Given the description of an element on the screen output the (x, y) to click on. 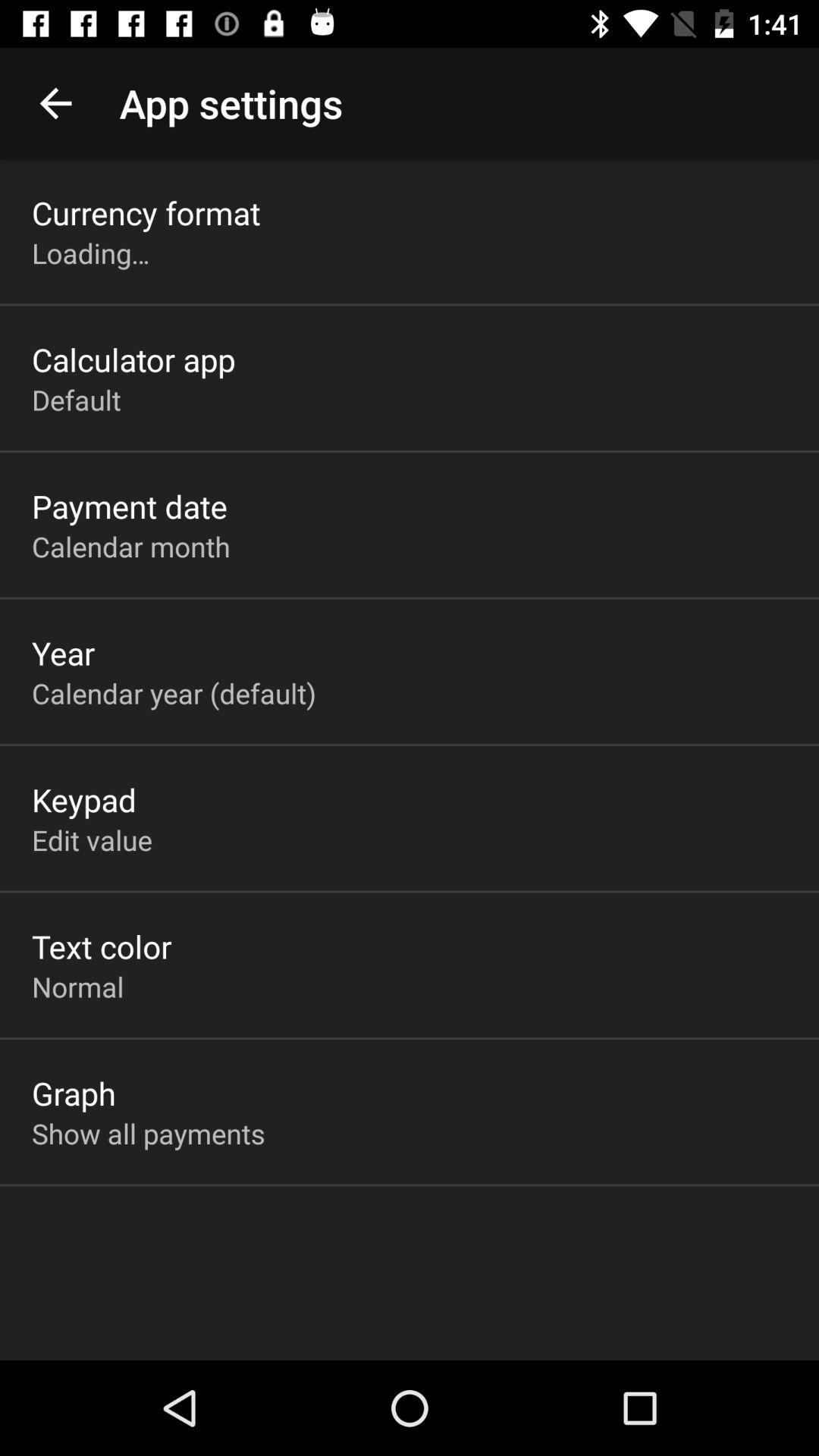
scroll to the calendar year (default) app (173, 693)
